Given the description of an element on the screen output the (x, y) to click on. 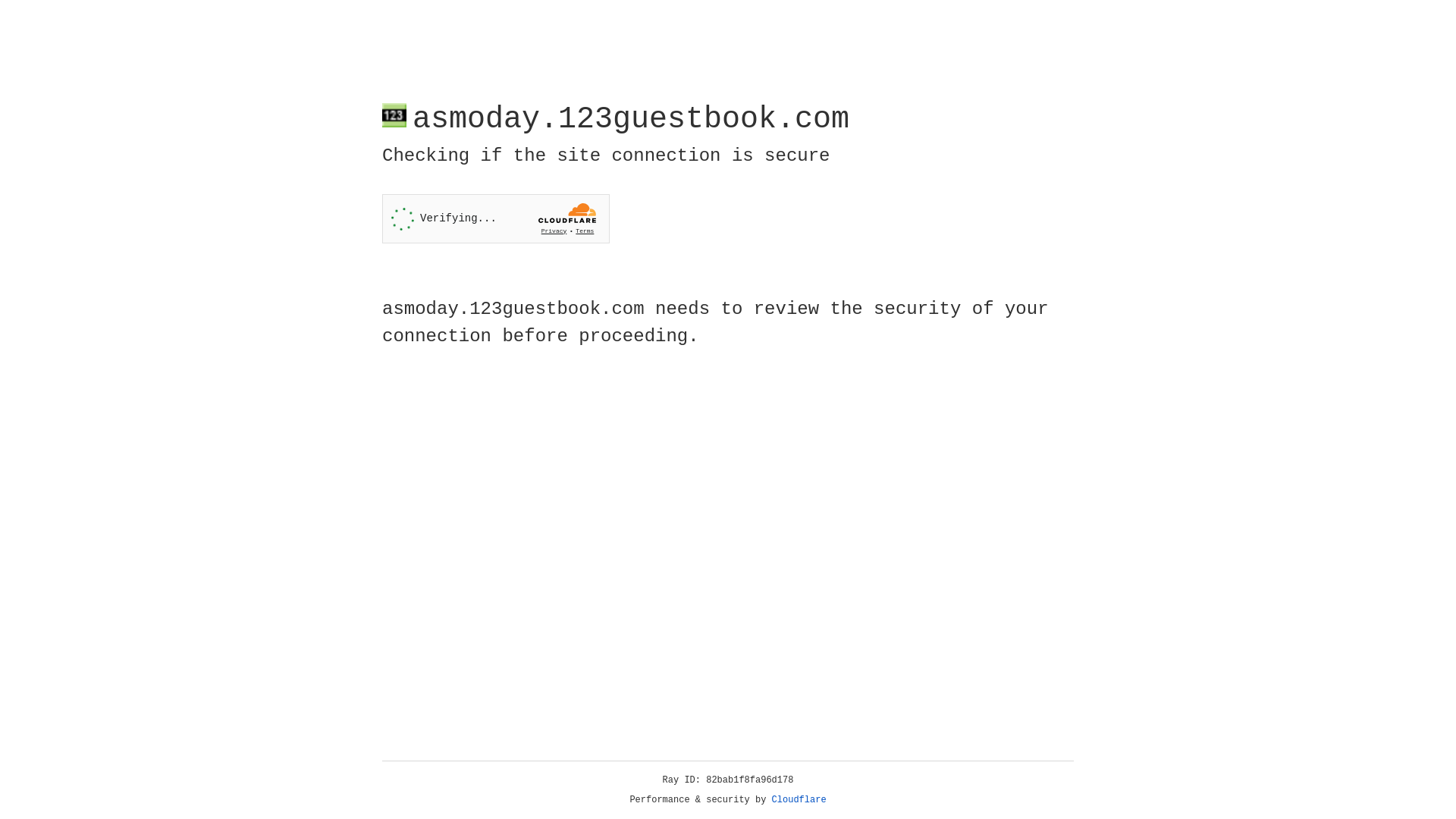
Cloudflare Element type: text (798, 799)
Widget containing a Cloudflare security challenge Element type: hover (495, 218)
